Given the description of an element on the screen output the (x, y) to click on. 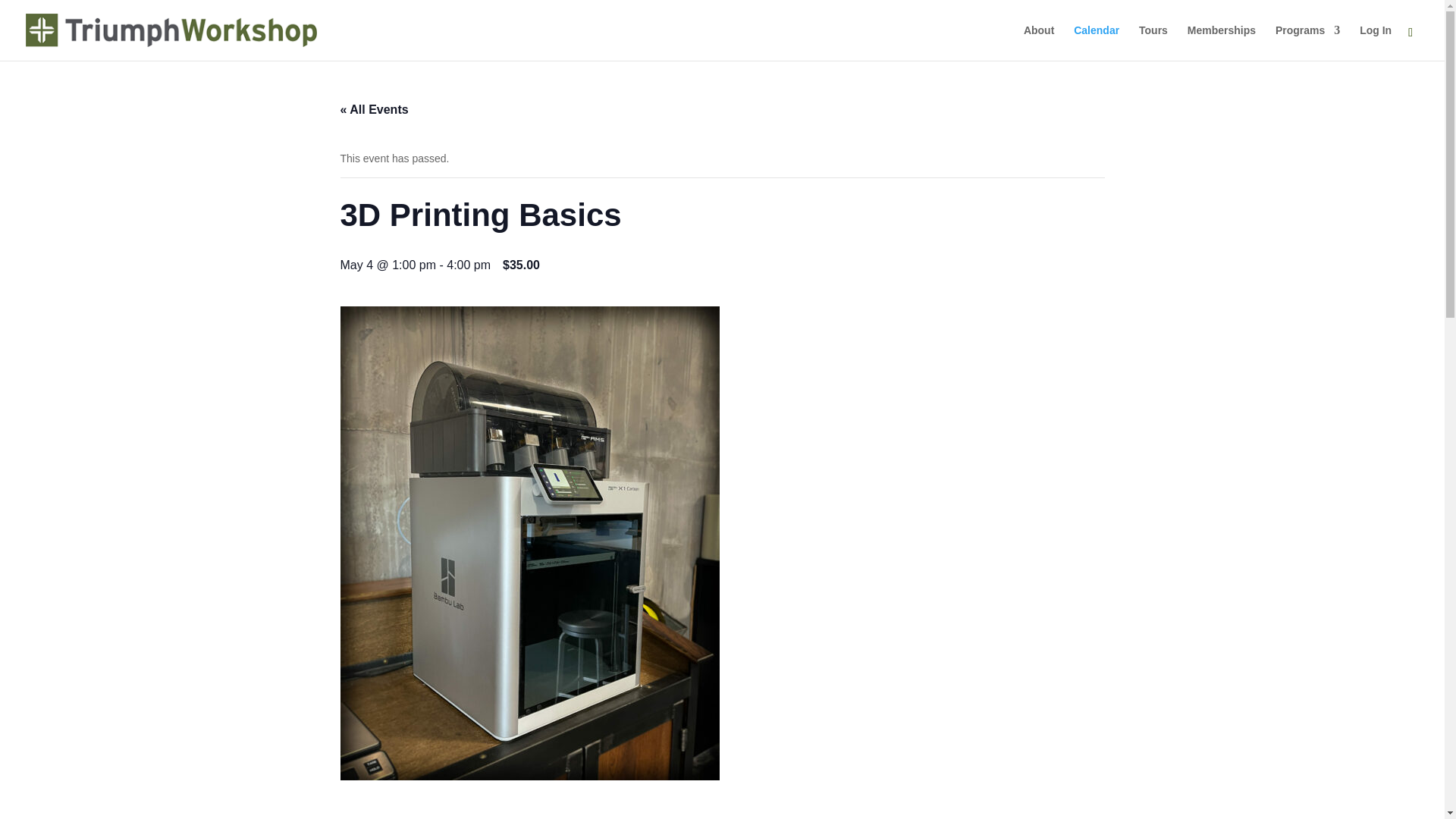
Log In (1375, 42)
Calendar (1096, 42)
Programs (1307, 42)
Memberships (1221, 42)
